Given the description of an element on the screen output the (x, y) to click on. 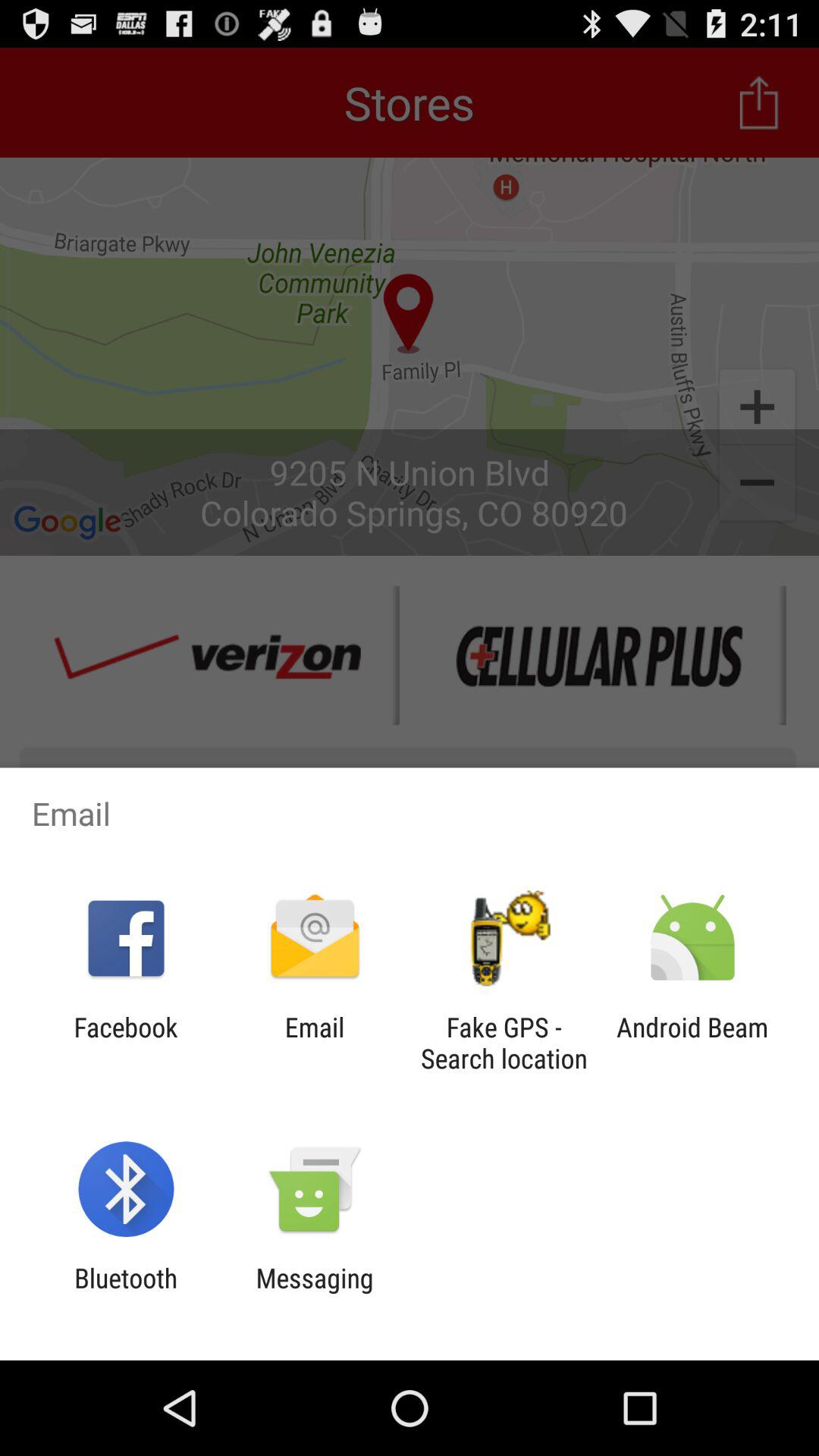
turn off the facebook app (125, 1042)
